Given the description of an element on the screen output the (x, y) to click on. 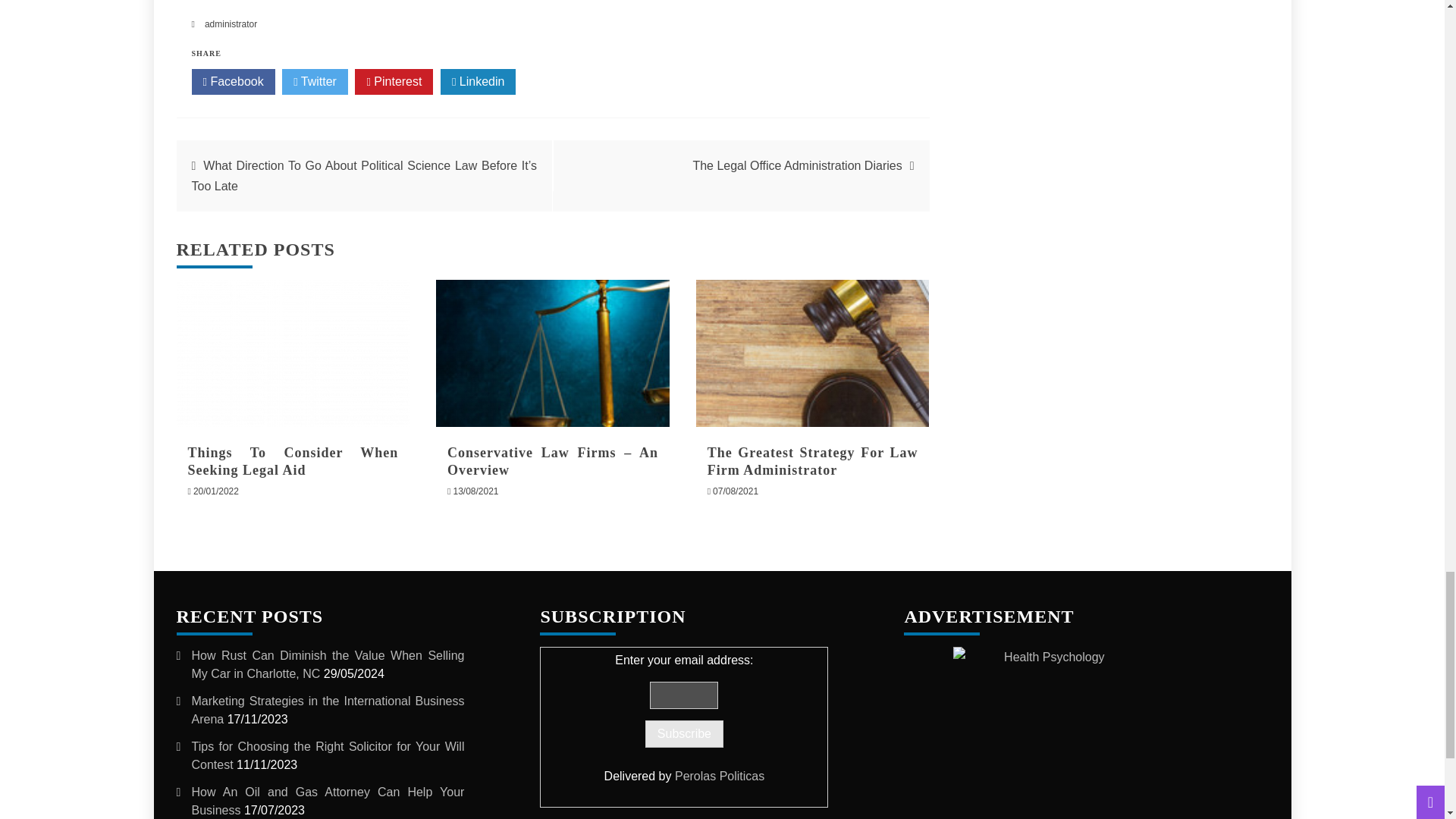
administrator (231, 23)
Subscribe (684, 733)
Things To Consider When Seeking Legal Aid (292, 461)
Twitter (314, 81)
The Legal Office Administration Diaries (797, 164)
Things To Consider When Seeking Legal Aid (292, 352)
Conservative Law Firms - An Overview (552, 352)
Facebook (232, 81)
The Greatest Strategy For Law Firm Administrator (812, 352)
The Greatest Strategy For Law Firm Administrator (812, 461)
